Given the description of an element on the screen output the (x, y) to click on. 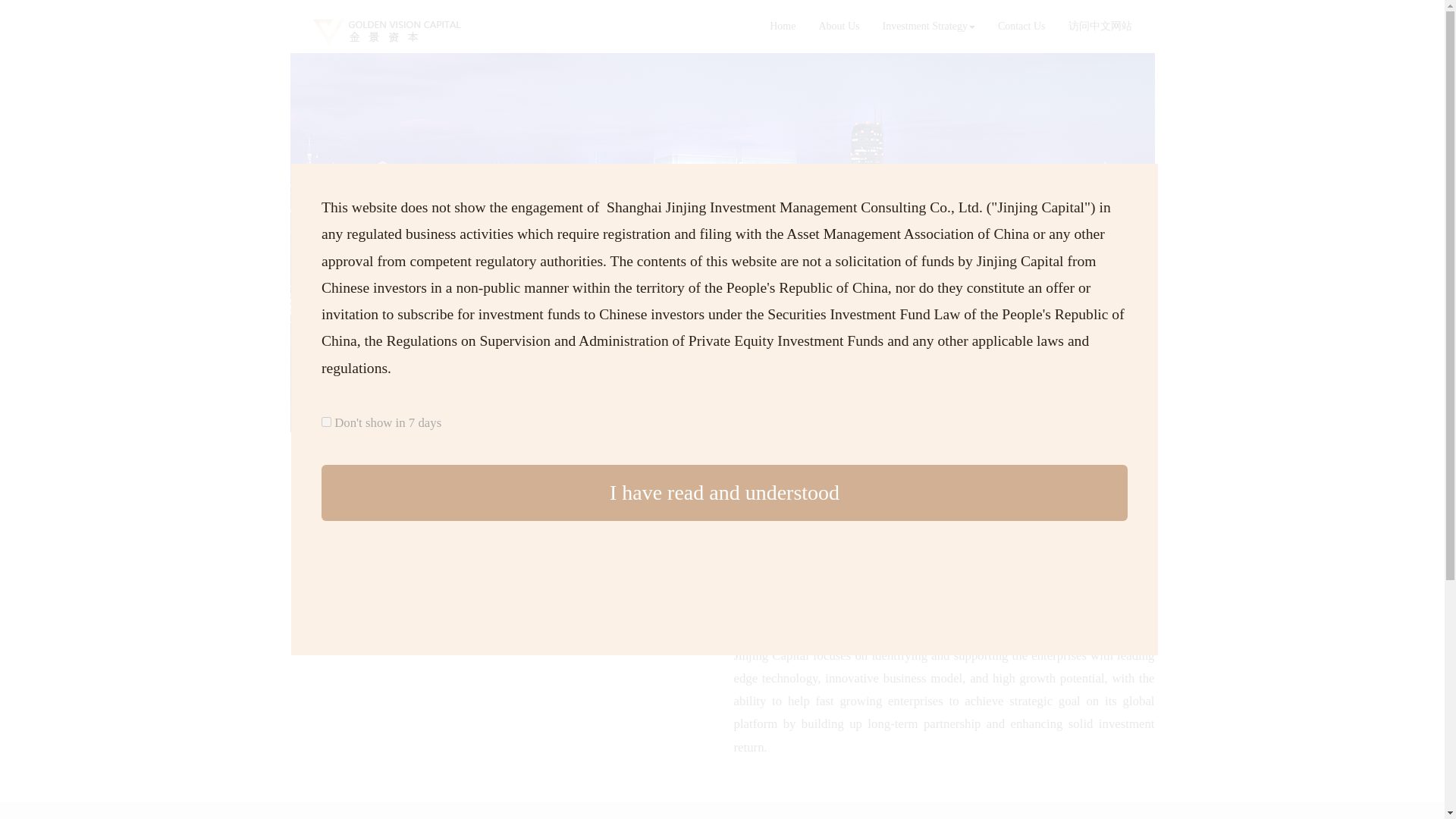
Contact Us (1022, 26)
Jinjing Capital (386, 31)
I have read and understood (723, 492)
on (326, 421)
About Us (838, 26)
Investment Strategy (928, 26)
Home (782, 26)
